Given the description of an element on the screen output the (x, y) to click on. 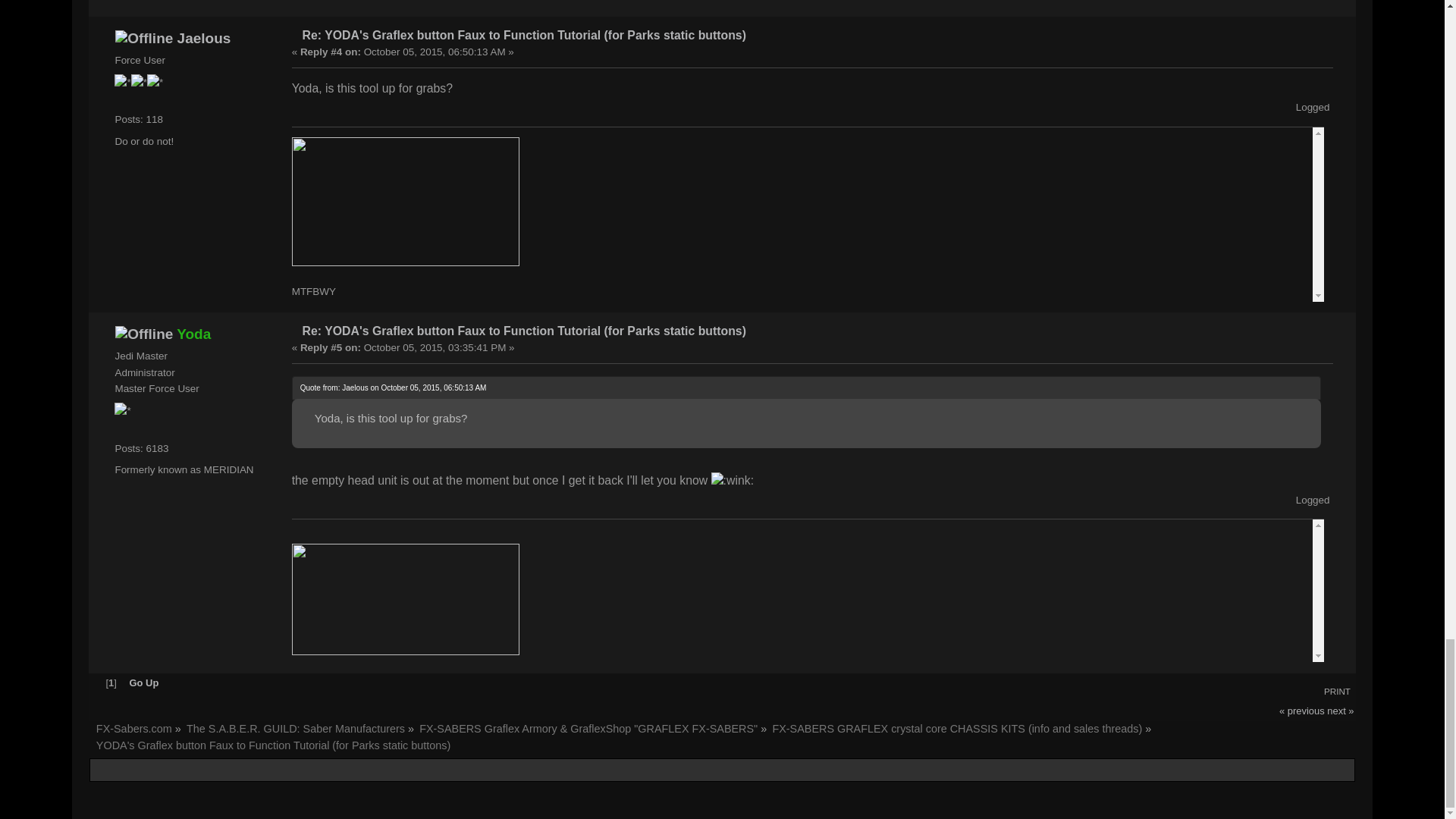
View the profile of Jaelous (204, 37)
View the profile of Yoda (193, 333)
wink (732, 480)
